Given the description of an element on the screen output the (x, y) to click on. 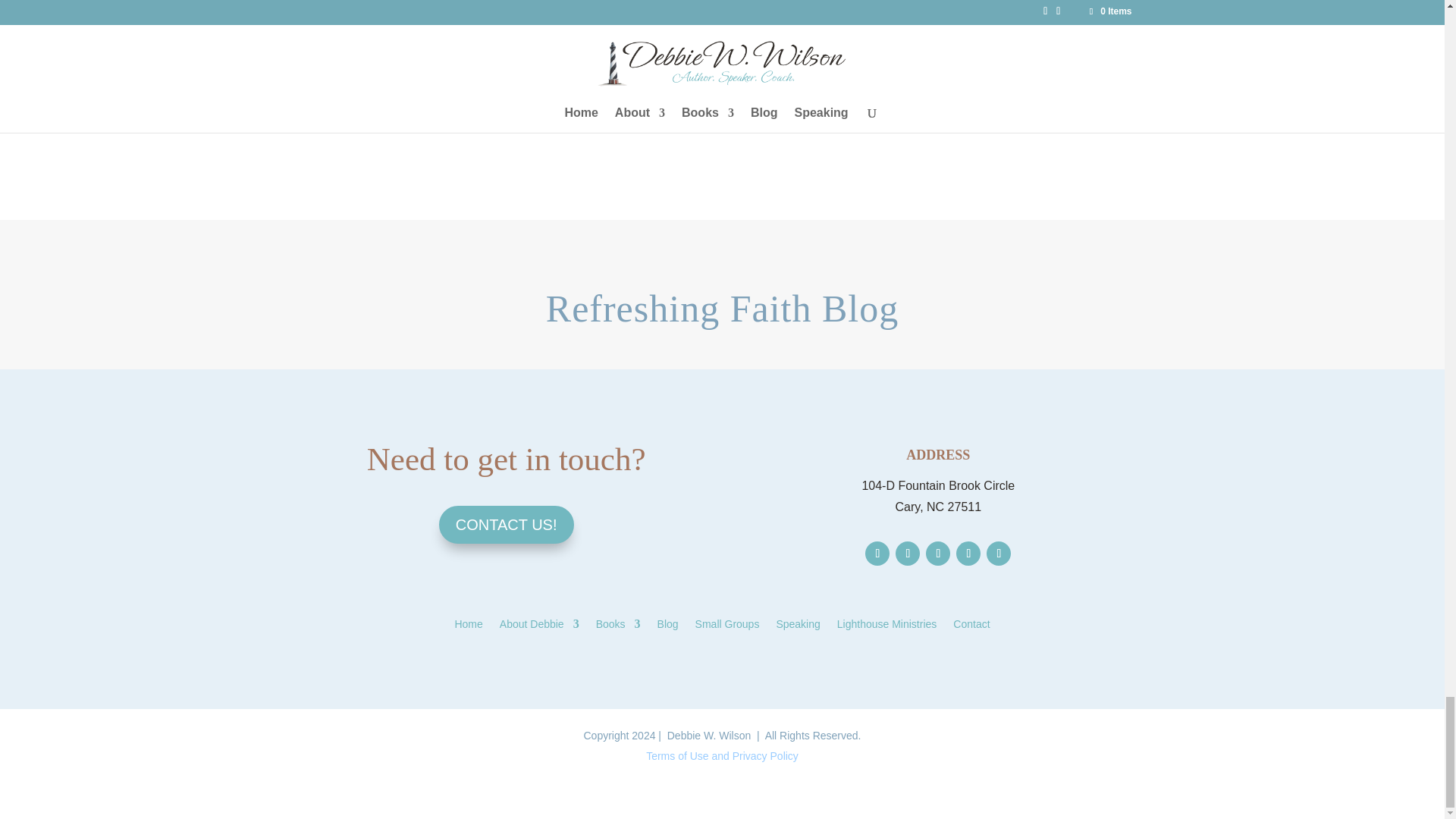
Follow on Instagram (938, 553)
Follow on Facebook (876, 553)
Follow on X (907, 553)
Follow on RSS (998, 553)
Follow on Pinterest (967, 553)
